Given the description of an element on the screen output the (x, y) to click on. 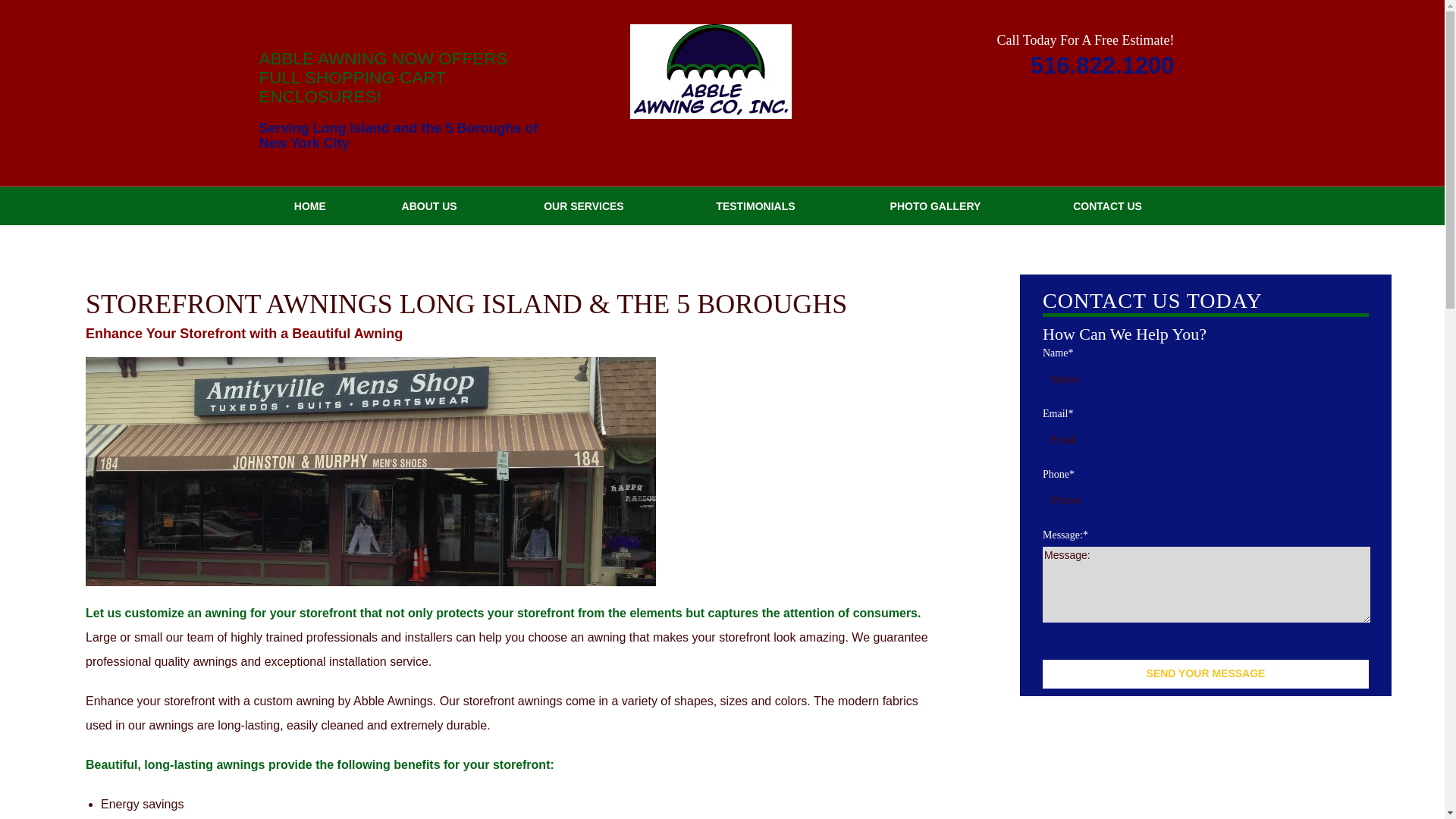
PHOTO GALLERY (935, 206)
TESTIMONIALS (755, 206)
Send Your Message (1205, 674)
OUR SERVICES (583, 206)
Send Your Message (1205, 674)
ABOUT US (429, 206)
CONTACT US (1107, 206)
516.822.1200 (1102, 67)
HOME (310, 206)
